Given the description of an element on the screen output the (x, y) to click on. 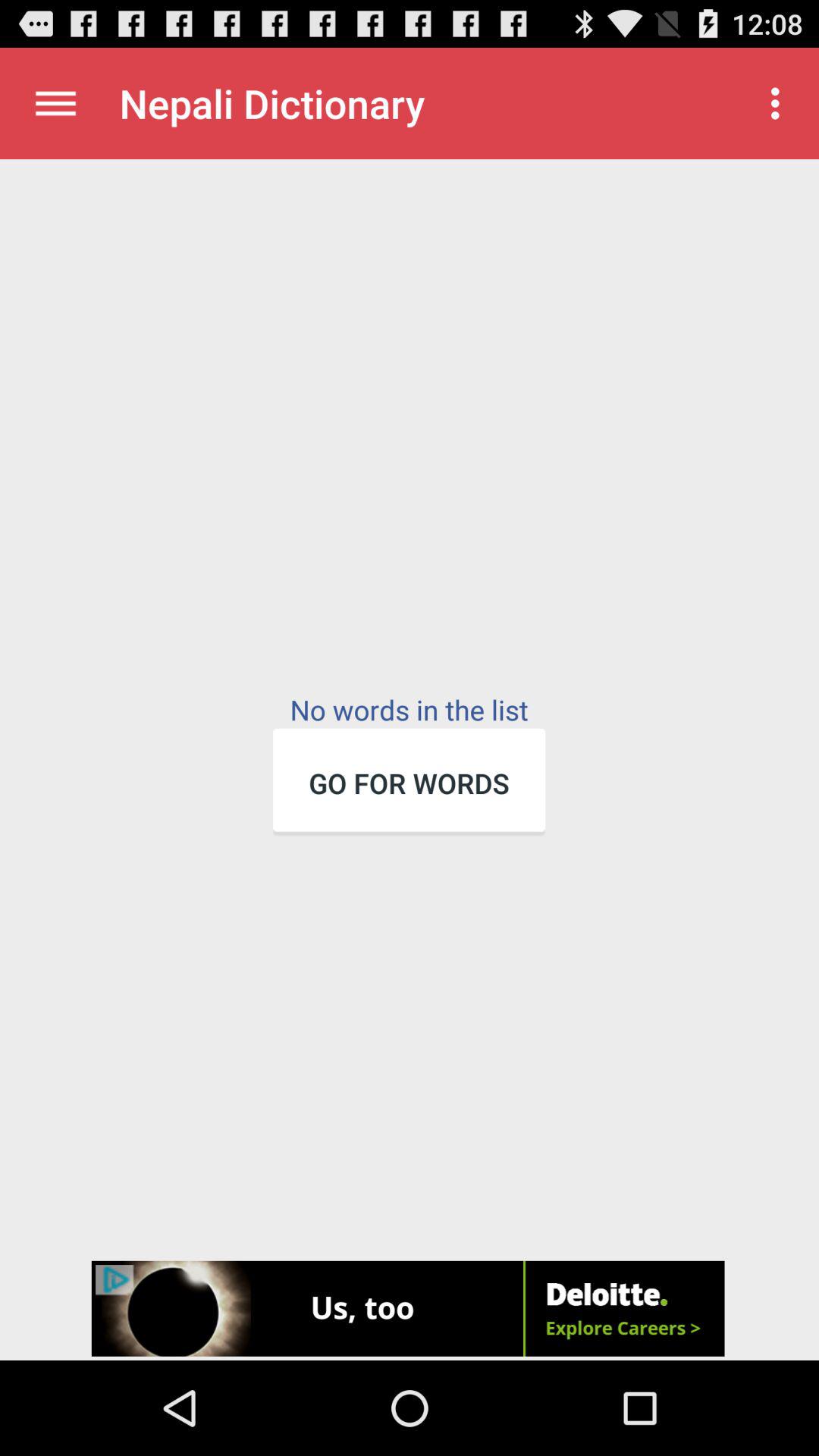
advertising bar (409, 1310)
